Given the description of an element on the screen output the (x, y) to click on. 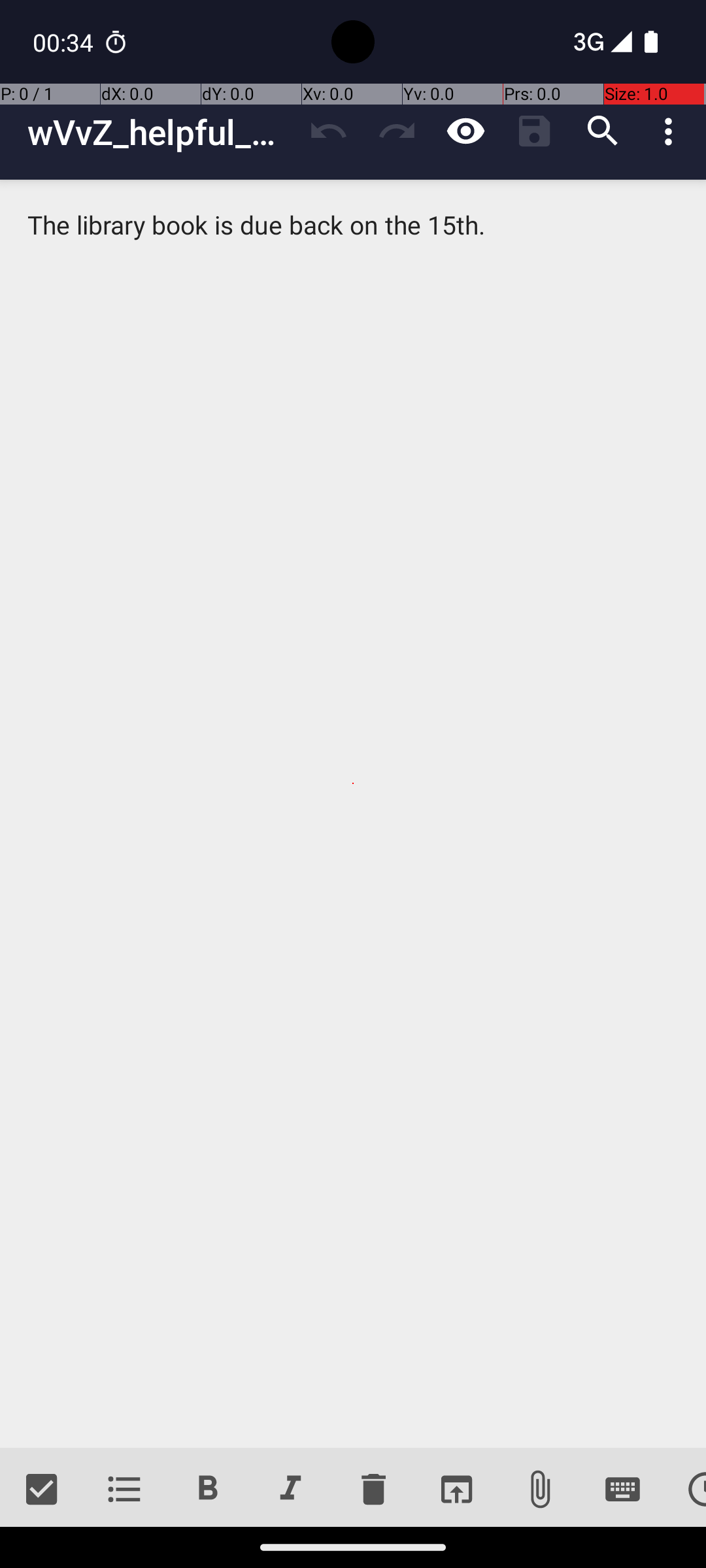
wVvZ_helpful_unicorn Element type: android.widget.TextView (160, 131)
The library book is due back on the 15th.
 Element type: android.widget.EditText (353, 813)
00:34 Element type: android.widget.TextView (64, 41)
